Given the description of an element on the screen output the (x, y) to click on. 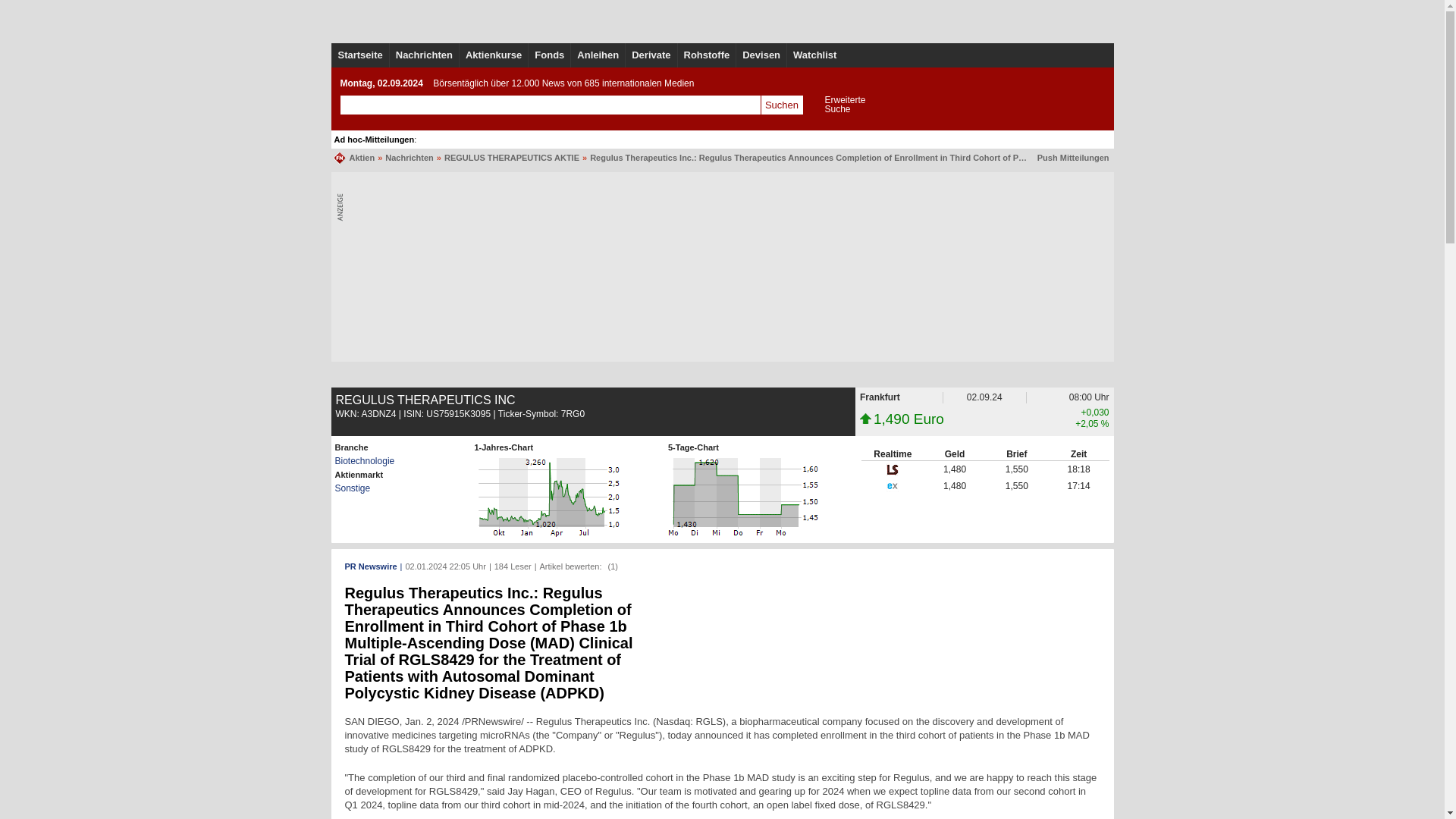
Nachrichten (423, 55)
FinanzNachrichten.de (341, 157)
Suchen (781, 104)
Startseite (359, 55)
